Given the description of an element on the screen output the (x, y) to click on. 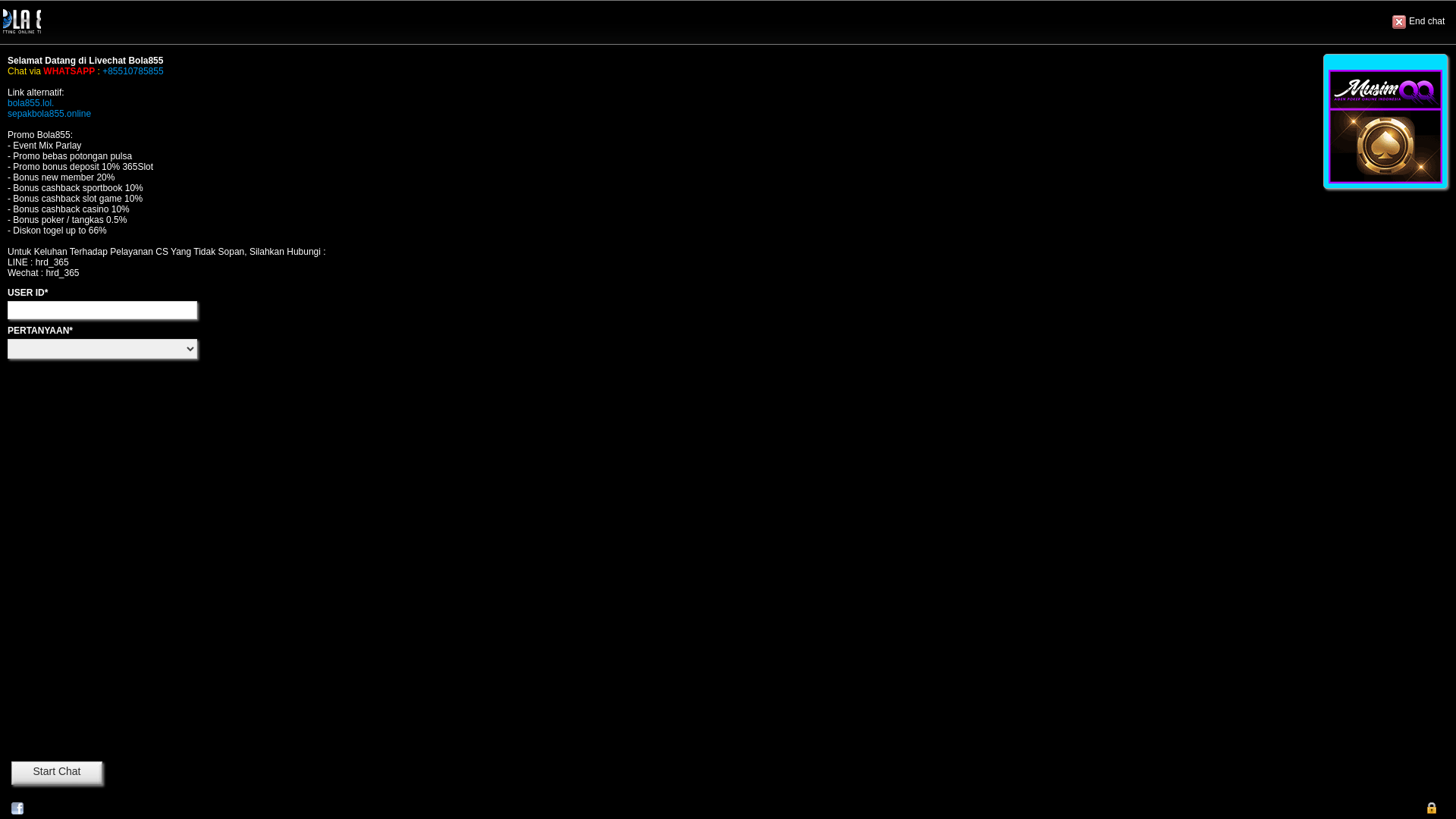
Start Chat Element type: text (56, 772)
End chat Element type: text (1423, 21)
MusimQQ situs pkv games terpercaya Element type: hover (1385, 126)
